Given the description of an element on the screen output the (x, y) to click on. 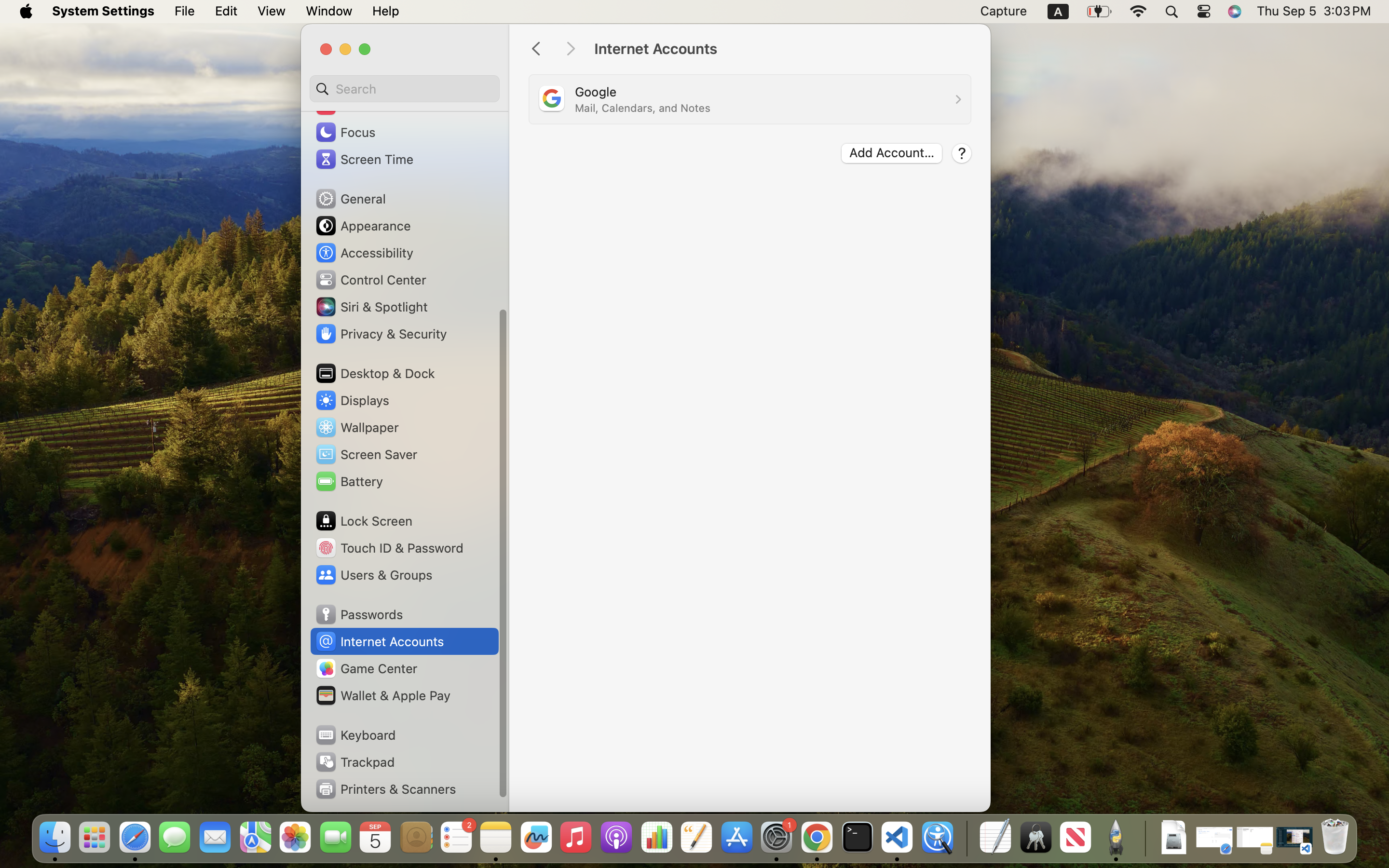
Passwords Element type: AXStaticText (358, 613)
Displays Element type: AXStaticText (351, 399)
Internet Accounts Element type: AXStaticText (782, 49)
Siri & Spotlight Element type: AXStaticText (370, 306)
Trackpad Element type: AXStaticText (354, 761)
